Given the description of an element on the screen output the (x, y) to click on. 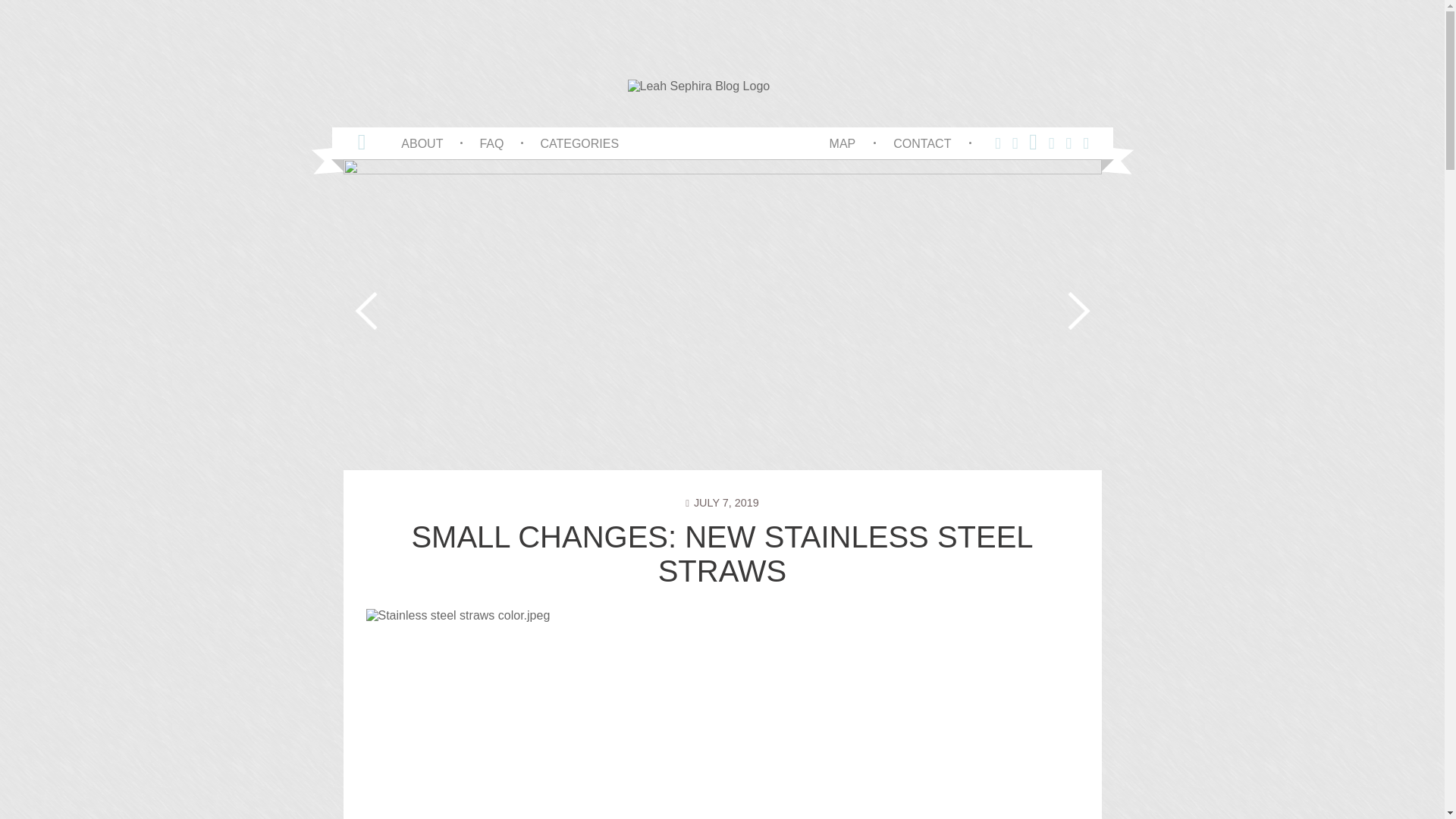
CONTACT (922, 142)
ABOUT (421, 142)
CATEGORIES (579, 142)
SMALL CHANGES: NEW STAINLESS STEEL STRAWS (721, 554)
MAP (842, 142)
FAQ (491, 142)
